Given the description of an element on the screen output the (x, y) to click on. 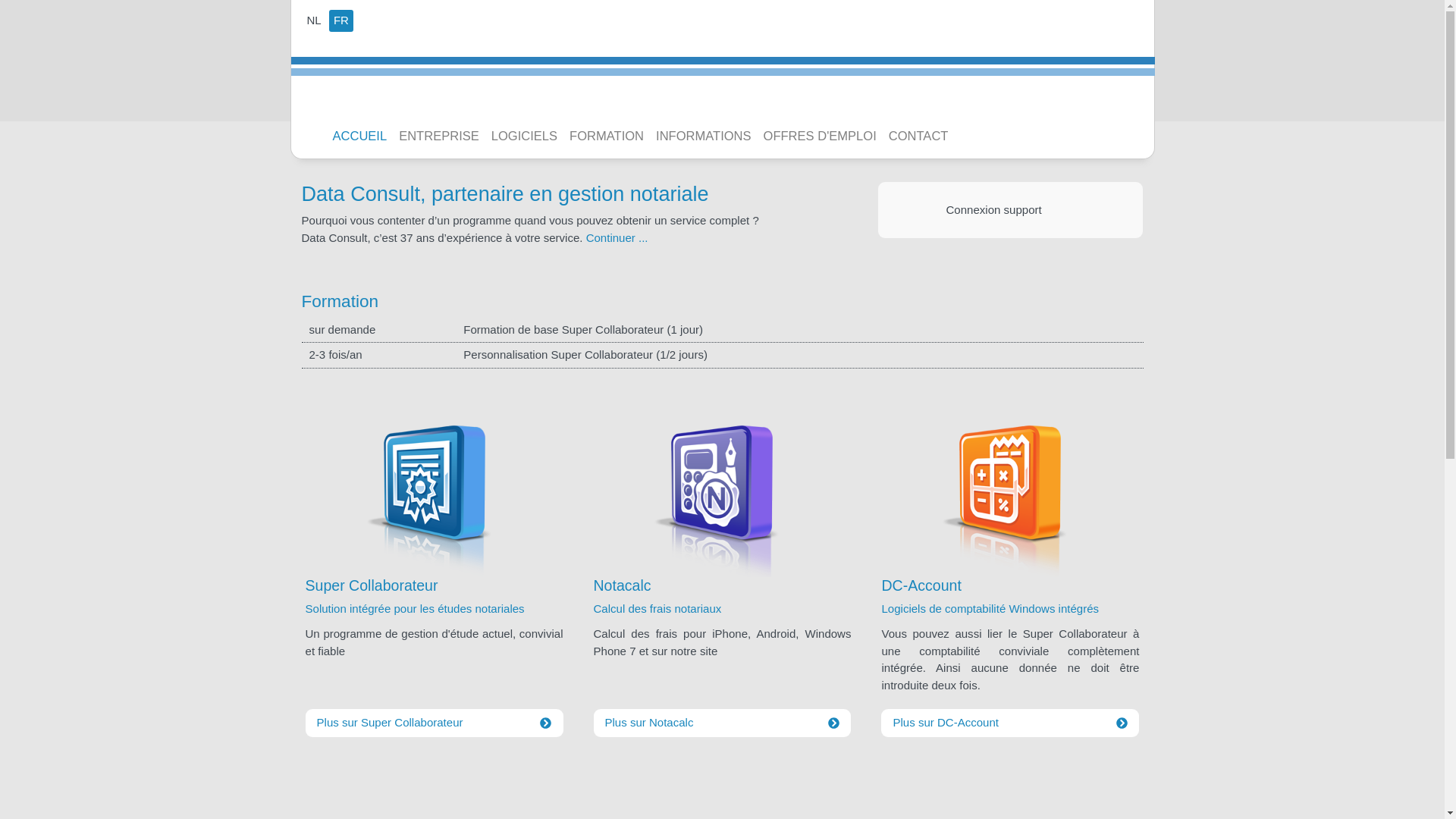
2-3 fois/an
Personnalisation Super Collaborateur (1/2 jours) Element type: text (722, 354)
Connexion support Element type: text (1010, 210)
Super Collaborateur Element type: text (434, 588)
Plus sur Super Collaborateur Element type: text (434, 723)
FORMATION Element type: text (606, 136)
Notacalc Element type: text (721, 588)
Homepage Data Consult SRL - Zaventem Element type: hover (368, 81)
Continuer ... Element type: text (617, 237)
OFFRES D'EMPLOI Element type: text (819, 136)
ENTREPRISE Element type: text (438, 136)
INFORMATIONS Element type: text (703, 136)
NL Element type: text (313, 20)
DC-Account Element type: text (1010, 588)
sur demande
Formation de base Super Collaborateur (1 jour) Element type: text (722, 329)
ACCUEIL
(CURRENT) Element type: text (359, 136)
Plus sur Notacalc Element type: text (721, 723)
FR Element type: text (341, 20)
CONTACT Element type: text (918, 136)
LOGICIELS Element type: text (524, 136)
Plus sur DC-Account Element type: text (1010, 723)
